Given the description of an element on the screen output the (x, y) to click on. 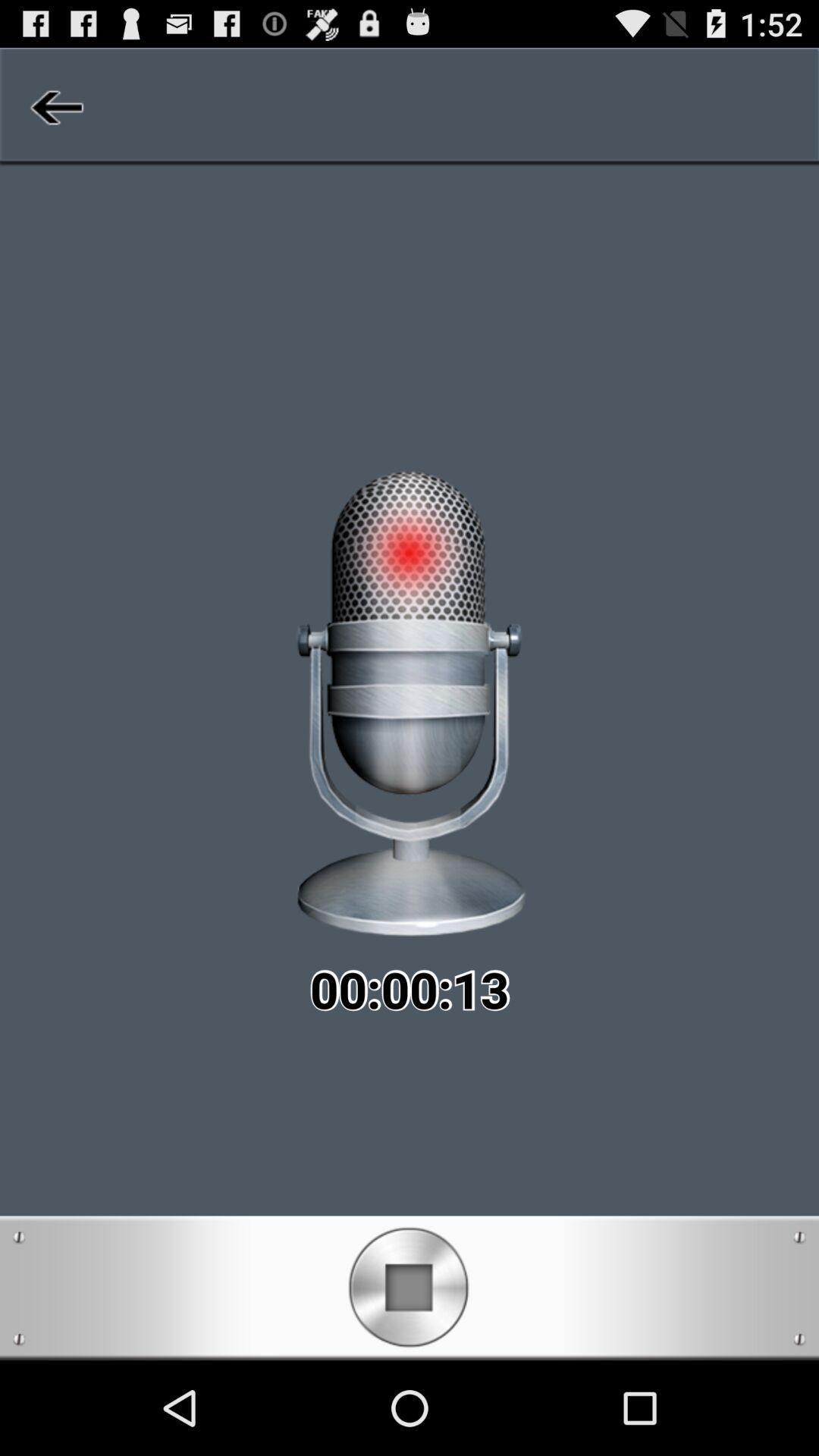
choose item at the top left corner (54, 107)
